Given the description of an element on the screen output the (x, y) to click on. 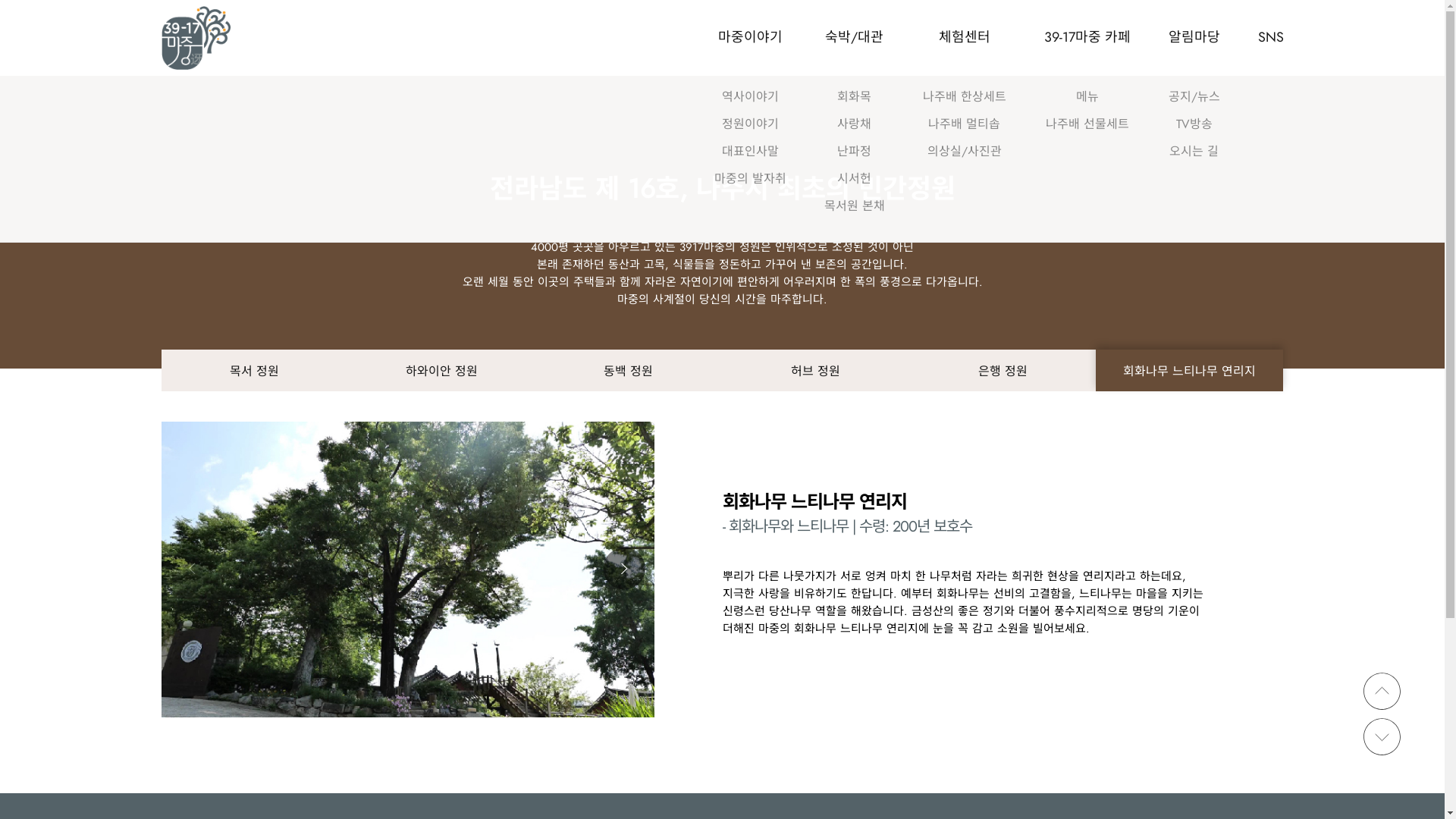
SNS Element type: text (1270, 37)
